Given the description of an element on the screen output the (x, y) to click on. 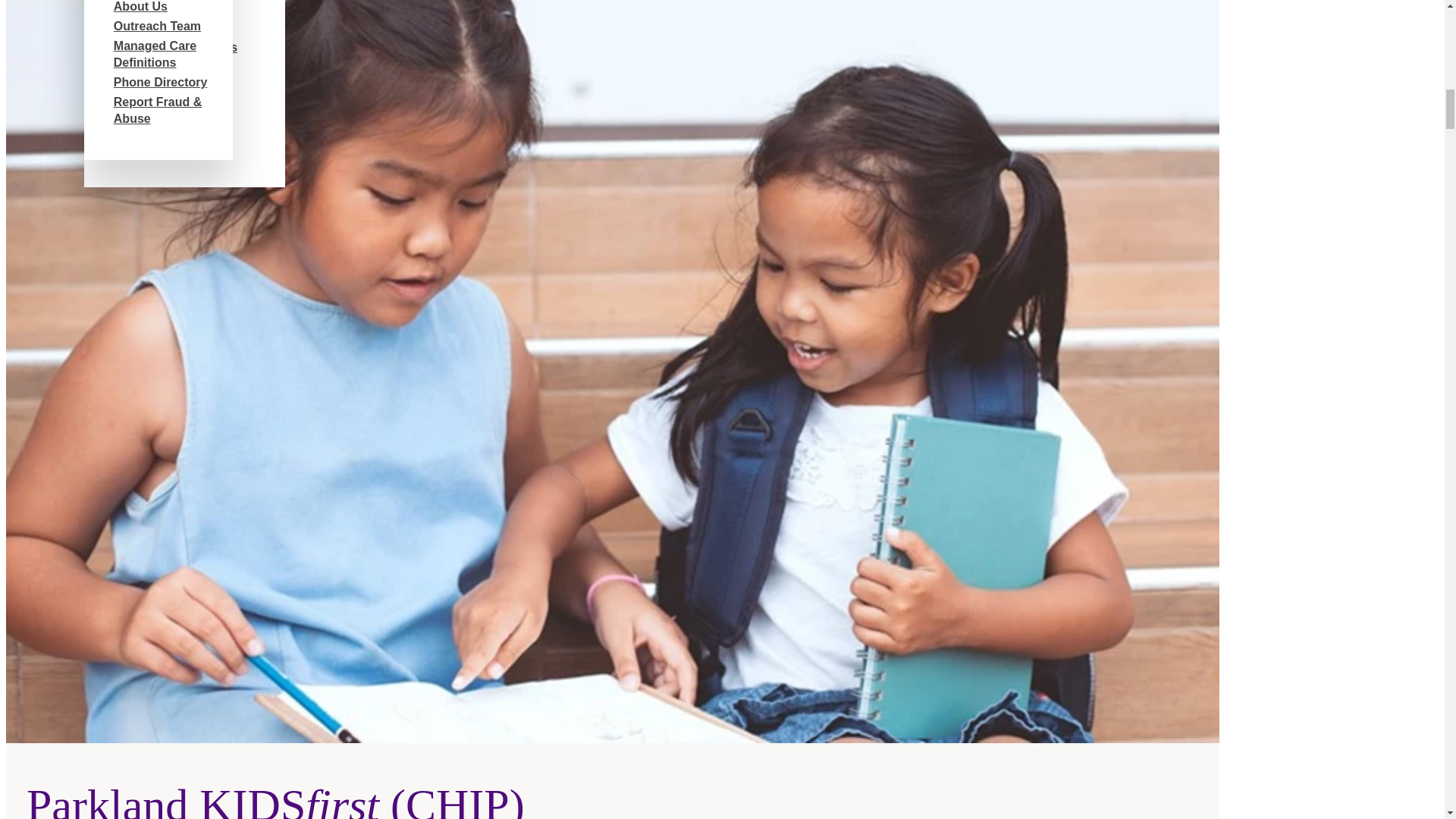
Interoperability (167, 145)
Members (150, 27)
Provider Directory (176, 106)
Renew (143, 125)
ID Card (145, 86)
Resources (154, 66)
